Given the description of an element on the screen output the (x, y) to click on. 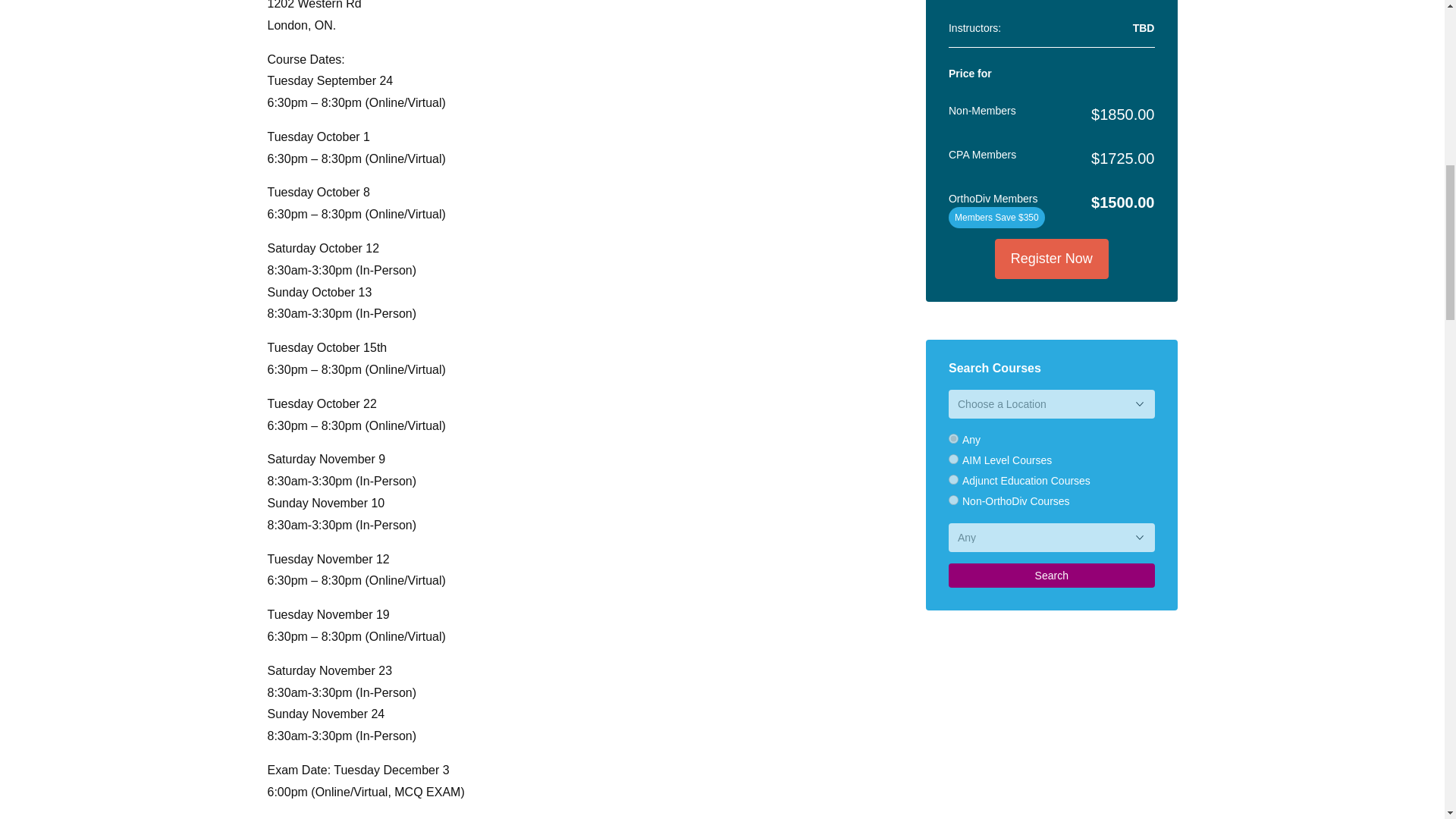
aec (953, 479)
Search (1051, 575)
no (953, 500)
any (953, 438)
yes (953, 459)
